Given the description of an element on the screen output the (x, y) to click on. 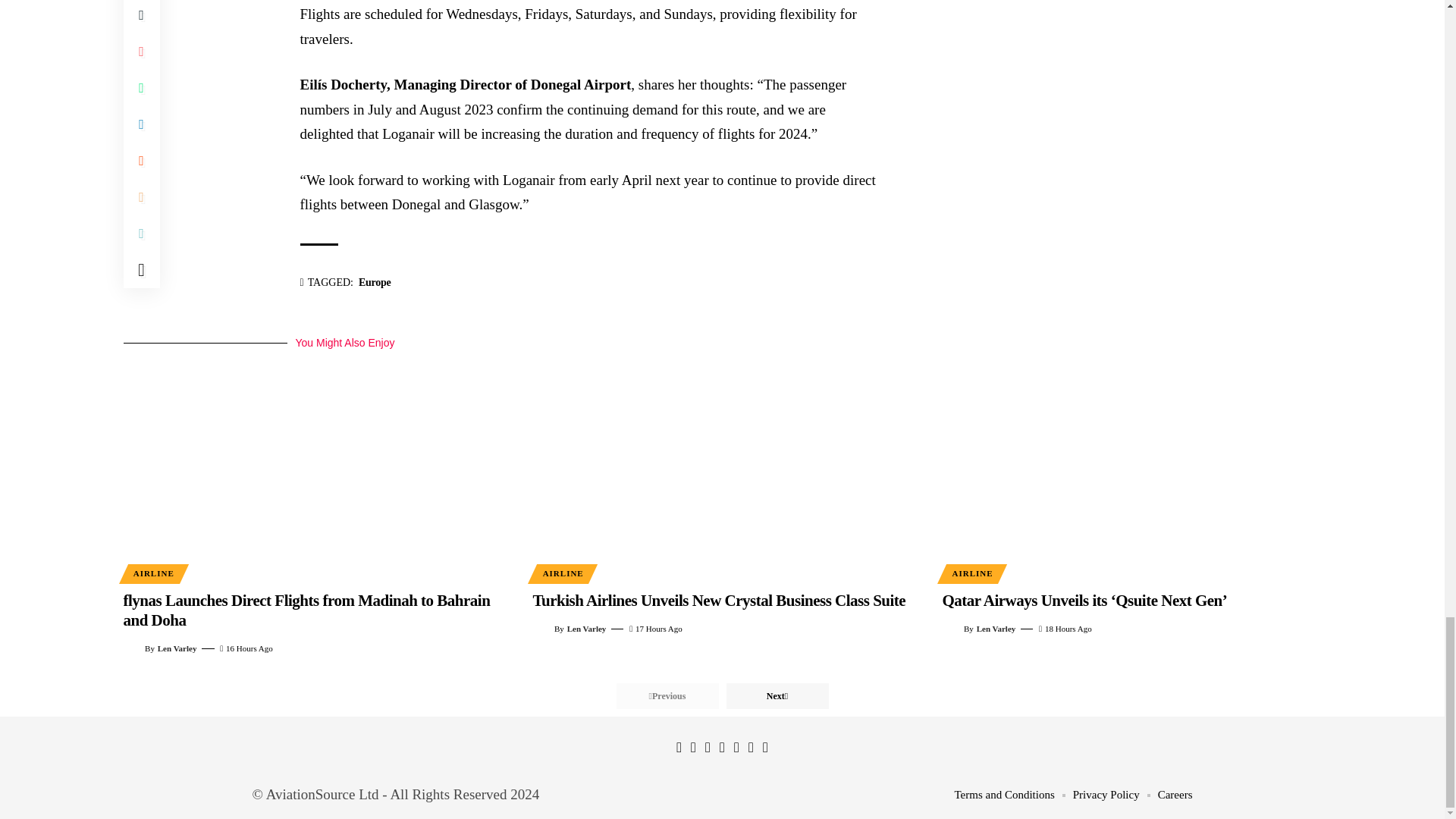
Turkish Airlines Unveils New Crystal Business Class Suite (721, 465)
Europe (374, 282)
